Given the description of an element on the screen output the (x, y) to click on. 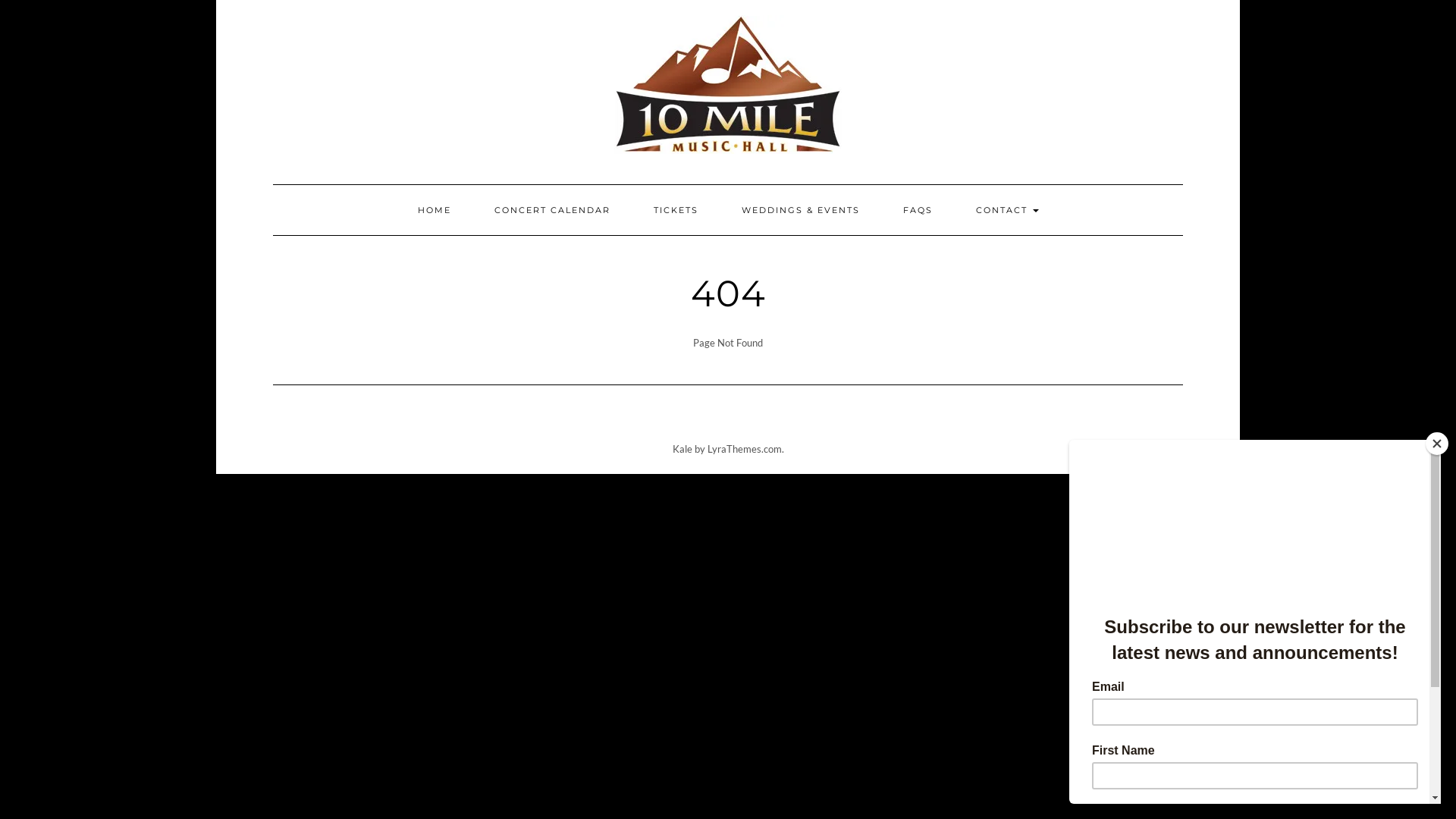
FAQS Element type: text (917, 210)
WEDDINGS & EVENTS Element type: text (799, 210)
TICKETS Element type: text (675, 210)
CONCERT CALENDAR Element type: text (551, 210)
CONTACT Element type: text (1007, 210)
HOME Element type: text (434, 210)
Kale Element type: text (681, 448)
